Given the description of an element on the screen output the (x, y) to click on. 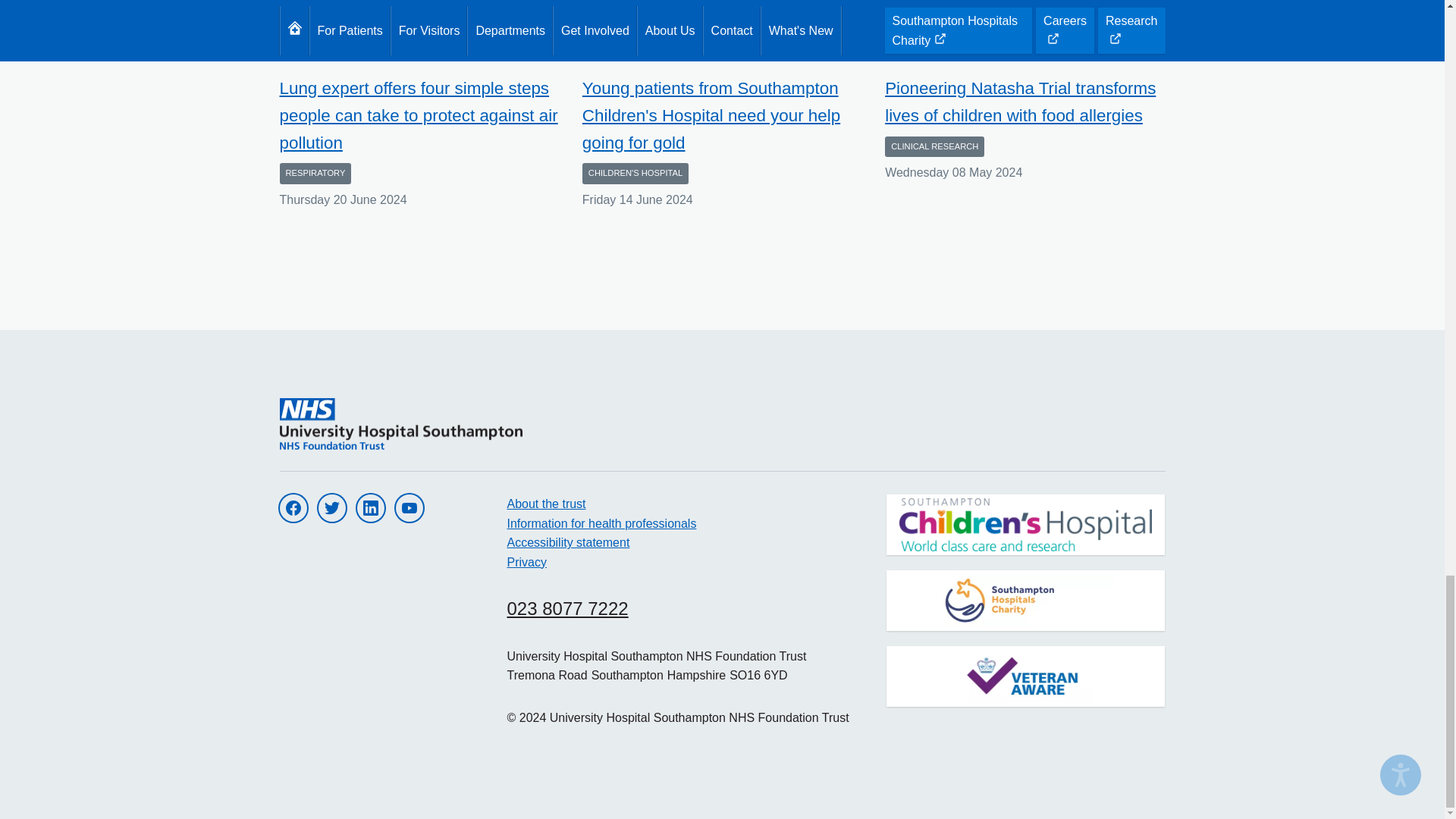
Visit UHS on facebook (292, 507)
RESPIRATORY (314, 173)
CHILDREN'S HOSPITAL (635, 173)
CLINICAL RESEARCH (934, 147)
